Given the description of an element on the screen output the (x, y) to click on. 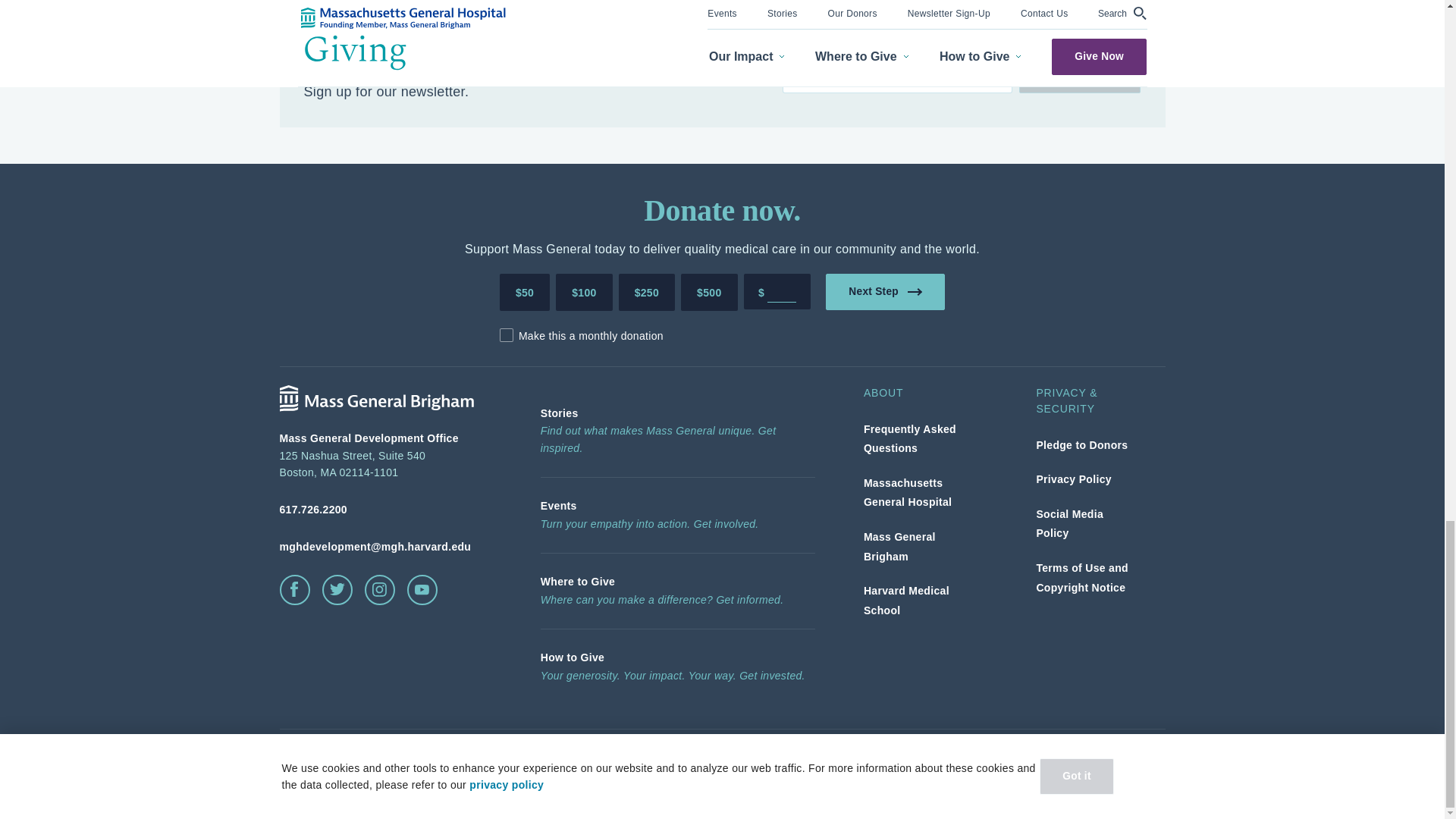
Subscribe (1079, 74)
